Given the description of an element on the screen output the (x, y) to click on. 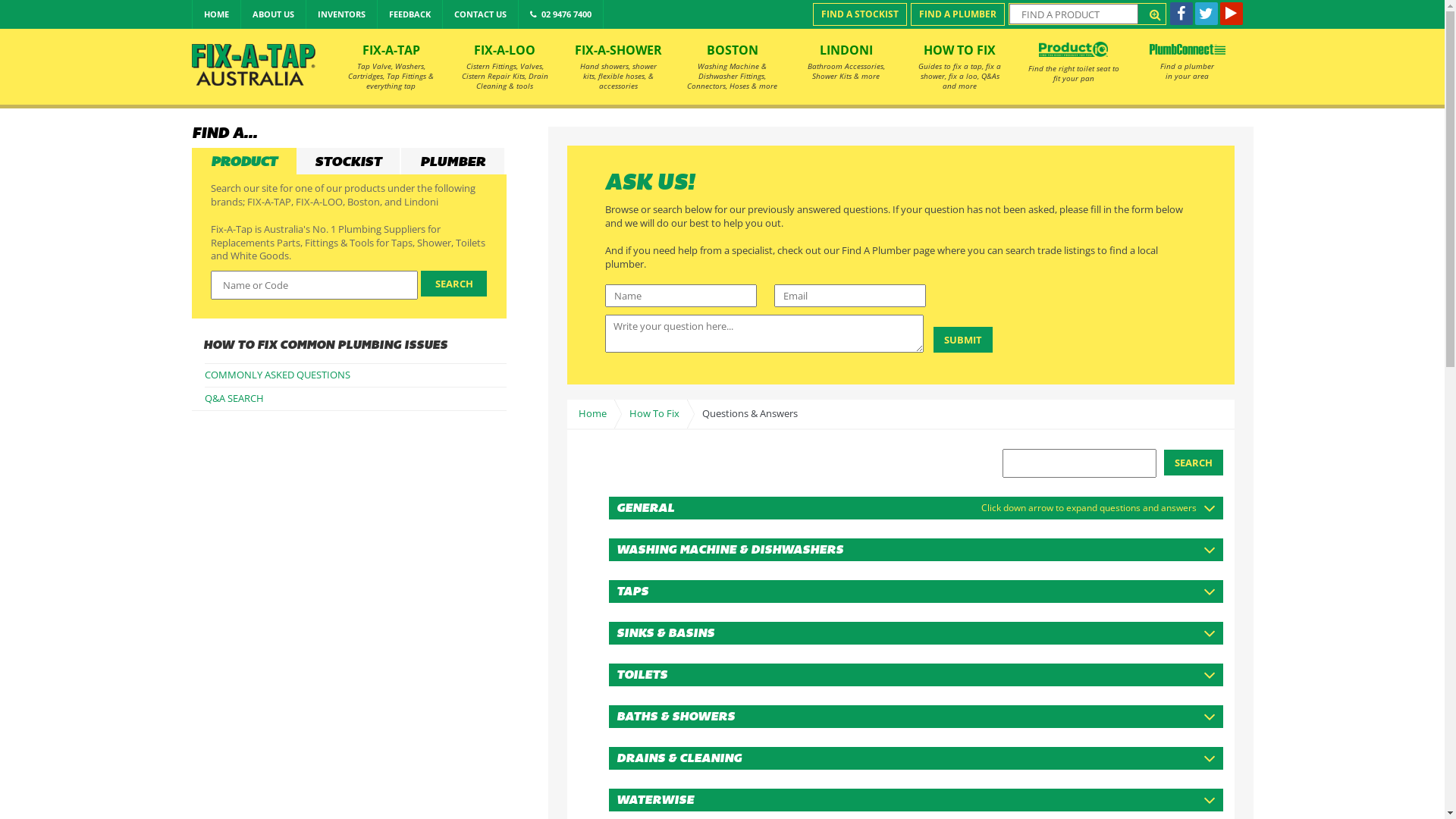
Find the right toilet seat to
fit your pan Element type: text (1072, 65)
Search Element type: text (1192, 462)
CONTACT US Element type: text (479, 14)
FIND A STOCKIST Element type: text (859, 14)
Home Element type: text (590, 413)
STOCKIST Element type: text (347, 161)
LINDONI Bathroom Accessories, Shower Kits & more Element type: text (845, 65)
Find a plumber
in your area Element type: text (1186, 65)
Q&A SEARCH Element type: text (355, 398)
PRODUCT Element type: text (243, 161)
INVENTORS Element type: text (341, 14)
SUBMIT Element type: text (961, 339)
SEARCH Element type: text (453, 283)
FEEDBACK Element type: text (409, 14)
HOME Element type: text (216, 14)
ABOUT US Element type: text (273, 14)
COMMONLY ASKED QUESTIONS Element type: text (355, 375)
  02 9476 7400 Element type: text (560, 14)
FIND A PLUMBER Element type: text (957, 14)
follow us on facebook Element type: hover (1180, 13)
How To Fix Element type: text (650, 413)
PLUMBER Element type: text (452, 161)
follow us on youtube Element type: hover (1230, 13)
